Given the description of an element on the screen output the (x, y) to click on. 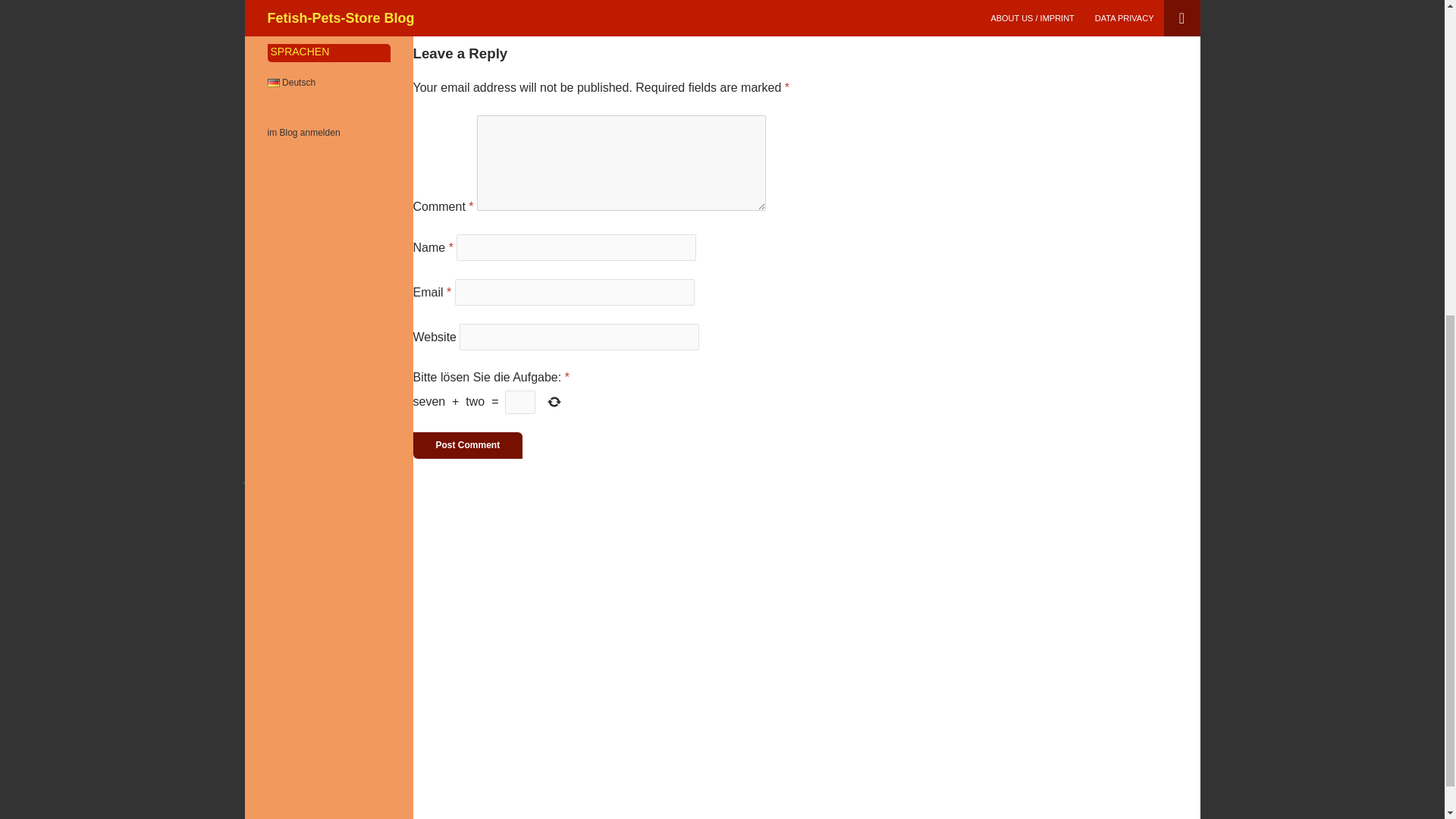
Post Comment (467, 445)
NEUE ARTIKEL IM SHOP (344, 667)
Previous PostStill Time for Christmas Presents (537, 19)
Petplay Shop (275, 811)
pig (249, 519)
Next PostNew Neoprene Puppy Masks (768, 19)
piggy (253, 533)
BDSM Geschenke (287, 756)
im Blog anmelden (302, 132)
Fetish-Pets-Store (285, 784)
